Given the description of an element on the screen output the (x, y) to click on. 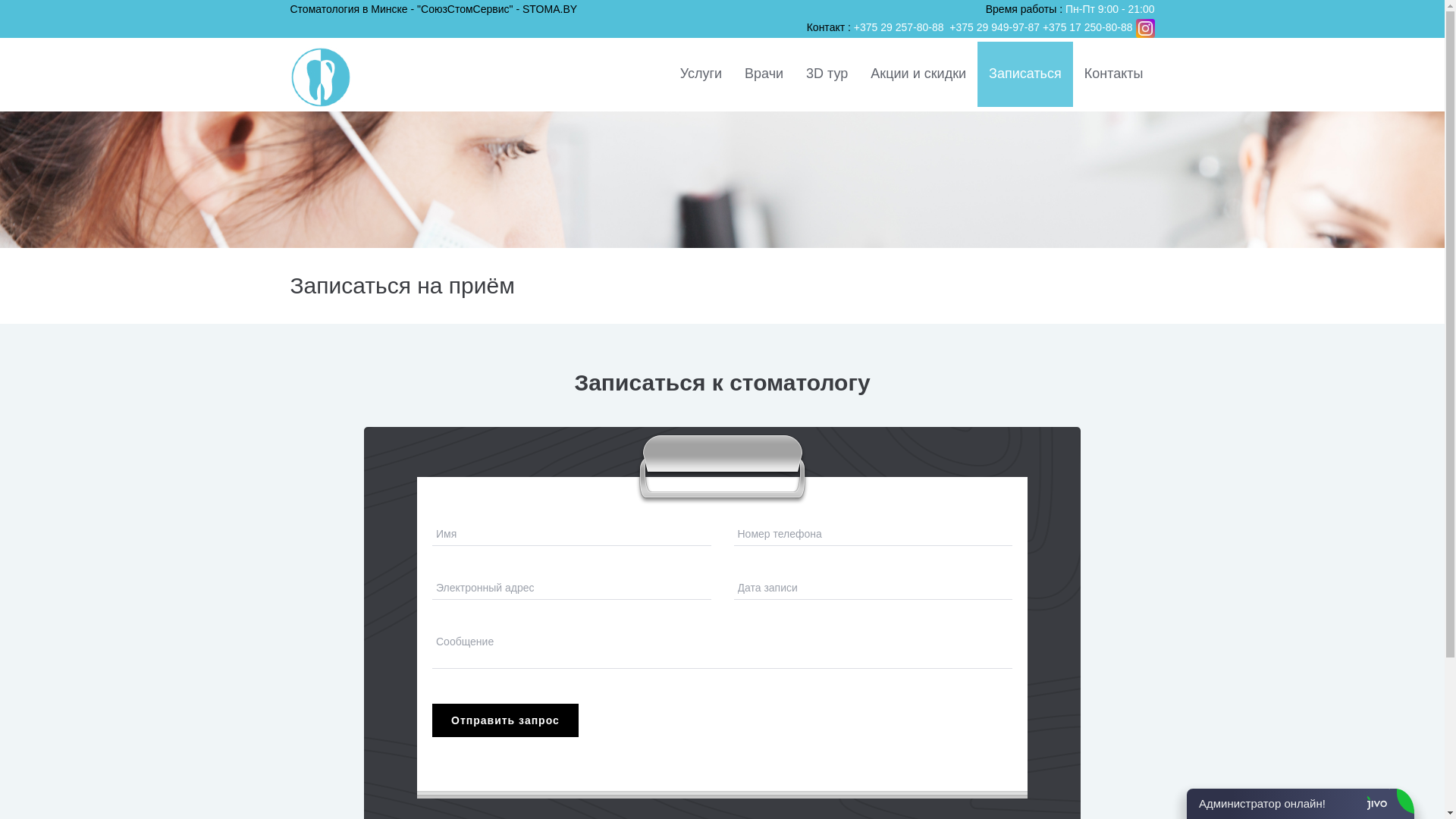
+375 29 949-97-87 Element type: text (994, 27)
+375 17 250-80-88 Element type: text (1087, 27)
+375 29 257-80-88  Element type: text (900, 27)
